Given the description of an element on the screen output the (x, y) to click on. 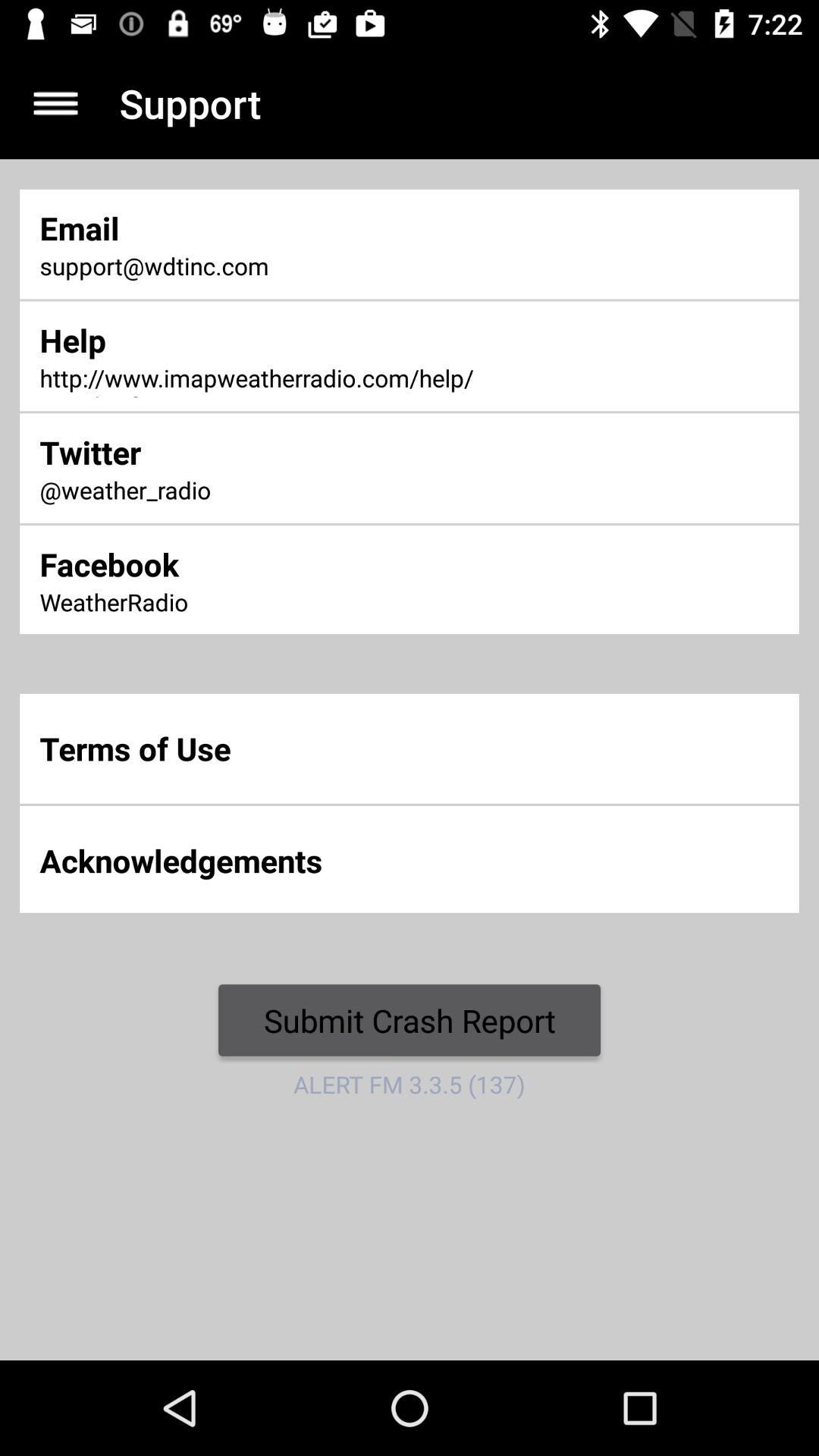
turn on item to the left of the support item (55, 103)
